Given the description of an element on the screen output the (x, y) to click on. 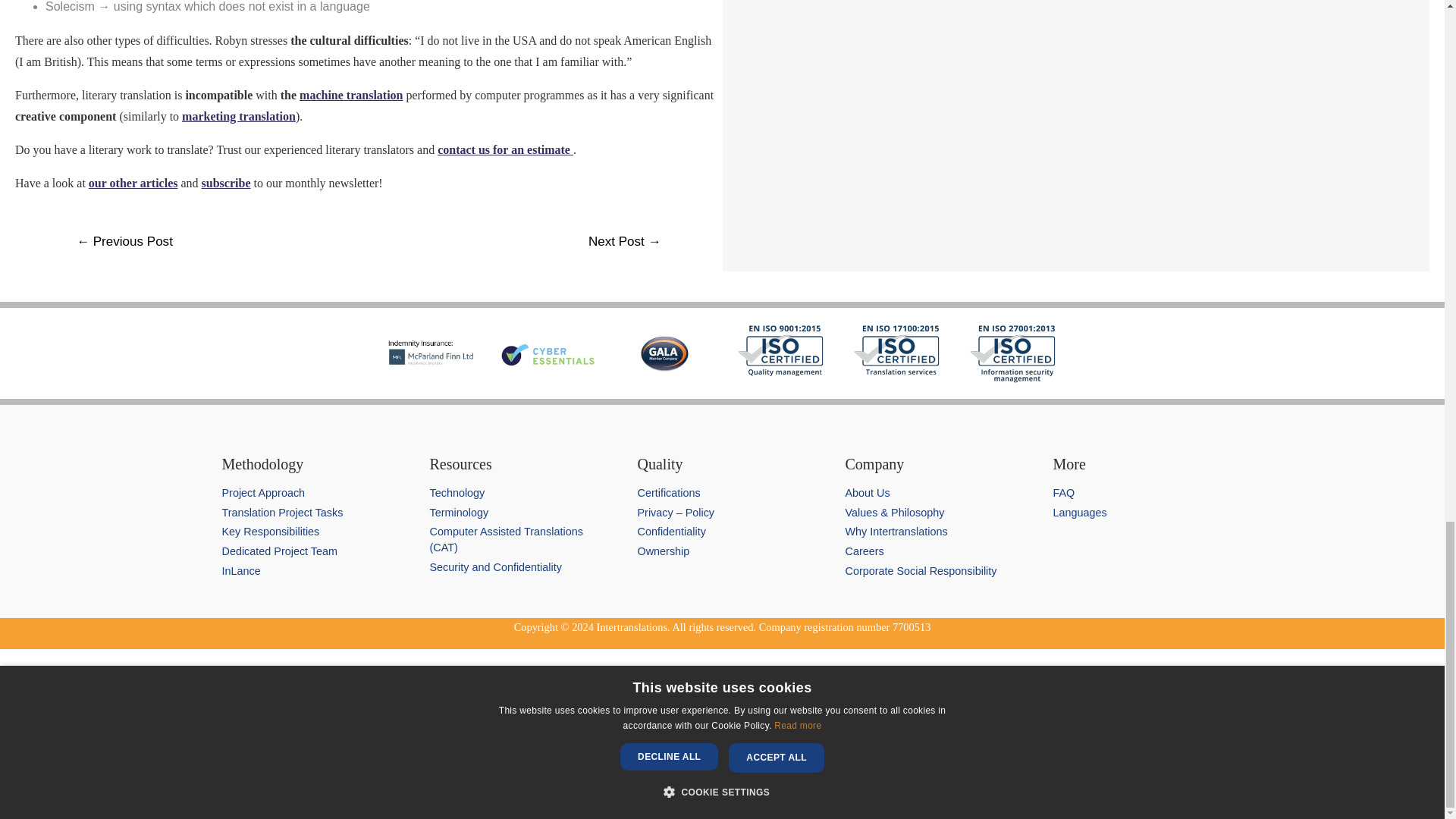
Subscribe (258, 778)
